Given the description of an element on the screen output the (x, y) to click on. 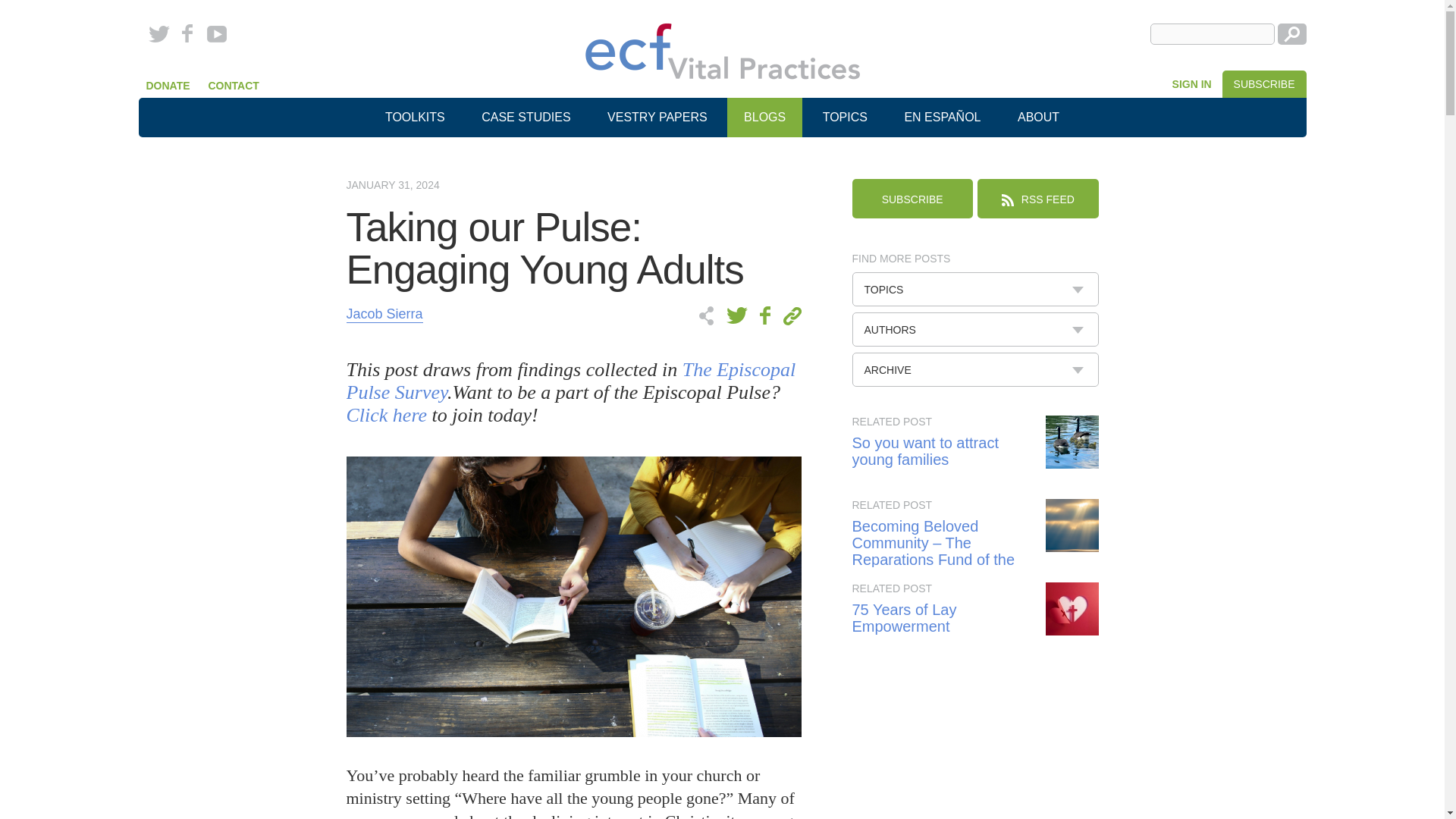
CASE STUDIES (525, 117)
VESTRY PAPERS (657, 117)
Visit us on Twitter (162, 34)
TOPICS (975, 288)
Share on Twitter (738, 315)
Email a Link (789, 315)
TOPICS (844, 117)
ARCHIVE (975, 369)
Search (1291, 34)
DONATE (167, 85)
TOOLKITS (414, 117)
Visit us on YouTube (216, 34)
The Episcopal Pulse Survey (570, 380)
SUBSCRIBE (1264, 83)
Share on Facebook (763, 315)
